Given the description of an element on the screen output the (x, y) to click on. 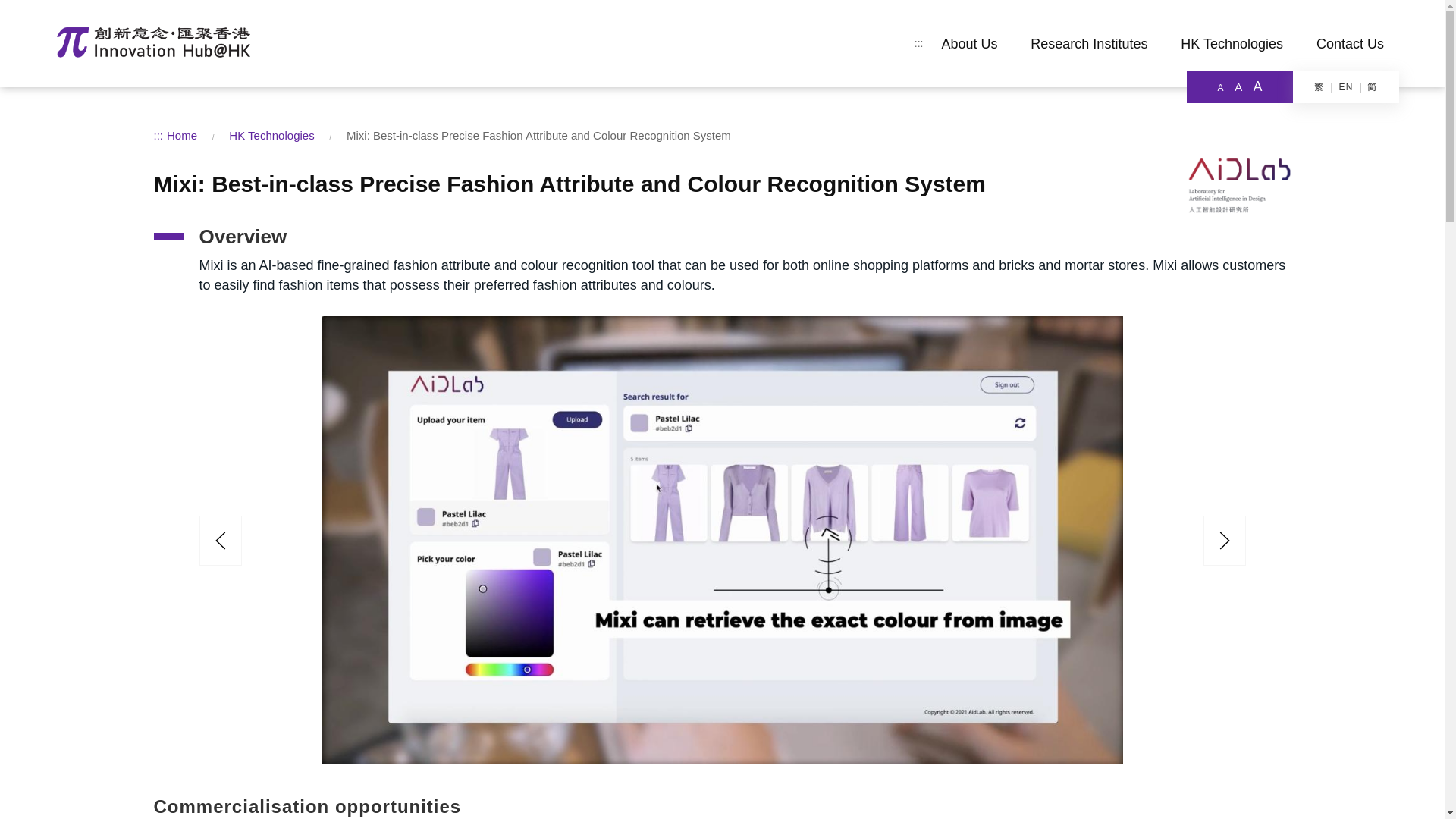
Contact Us (1349, 43)
A (1257, 86)
Home (181, 134)
Research Institutes (1088, 43)
A (1238, 86)
HK Technologies (1231, 43)
::: About Us Research Institutes HK Technologies Contact Us (722, 43)
HK Technologies (271, 134)
EN (1352, 86)
About Us (969, 43)
A (1220, 87)
A A A (1239, 86)
